Given the description of an element on the screen output the (x, y) to click on. 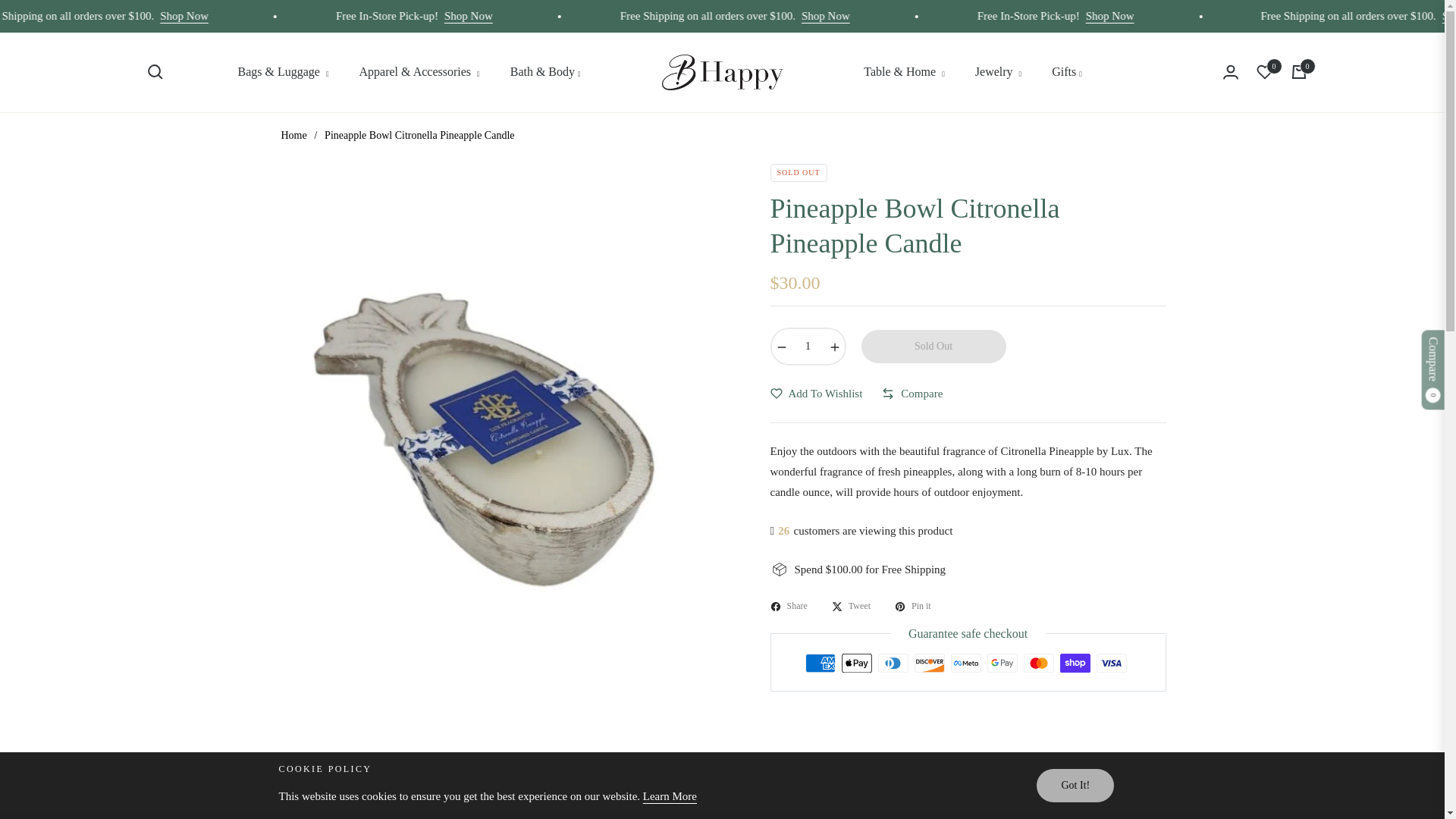
Shop Now (919, 15)
Shop Now (279, 15)
1 (807, 346)
Your Cart (1298, 71)
Meta Pay (965, 663)
Tweet  (850, 606)
Discover (929, 663)
Shop Now (1203, 15)
Mastercard (1038, 663)
Shop Pay (1074, 663)
